Given the description of an element on the screen output the (x, y) to click on. 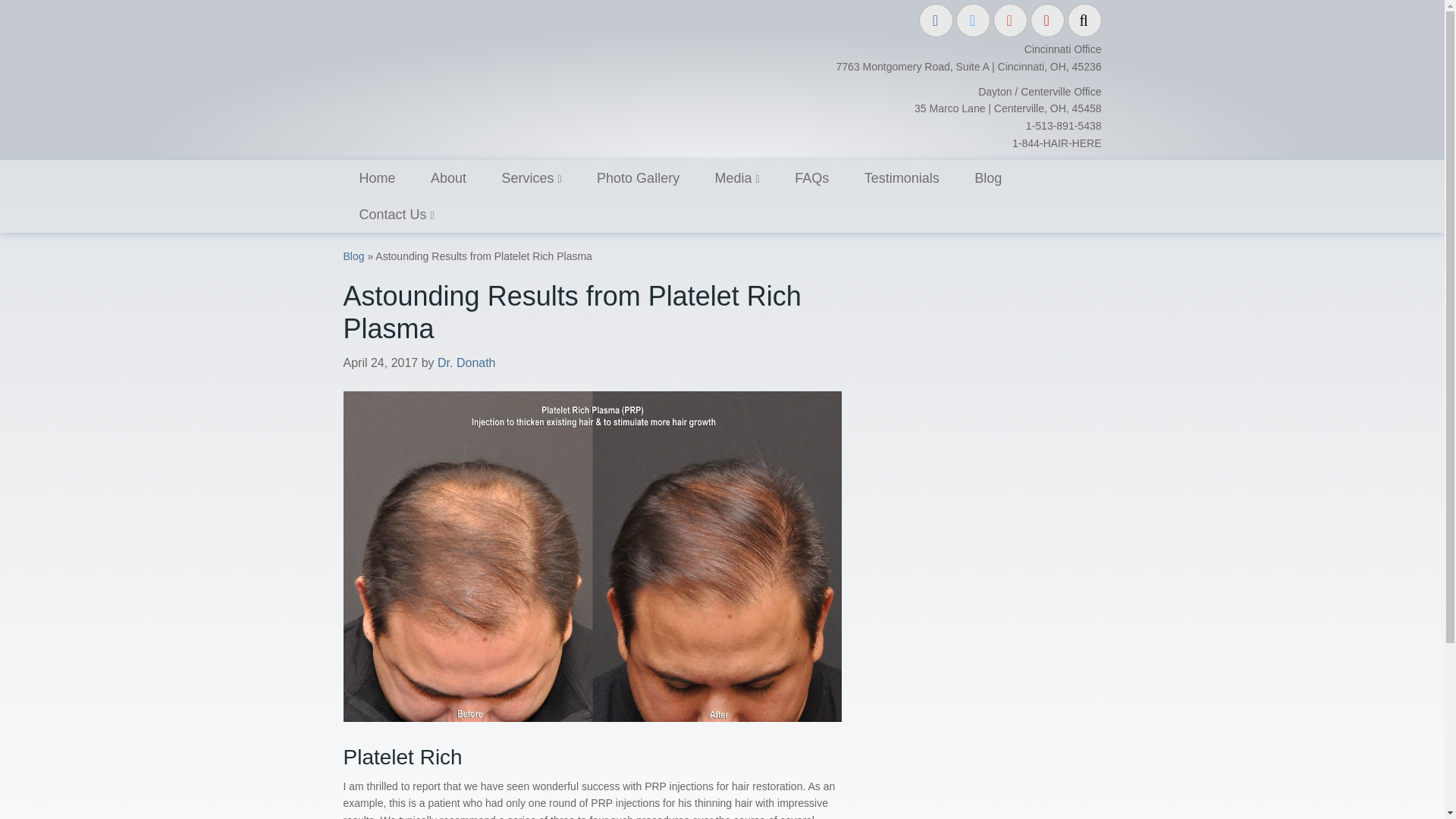
FAQs (811, 176)
Media (737, 176)
Hair Transplant Restoration (376, 176)
About (447, 176)
Home (376, 176)
Media (737, 176)
Testimonials (901, 176)
FAQs (811, 176)
Testimonials (901, 176)
Blog (353, 256)
